Given the description of an element on the screen output the (x, y) to click on. 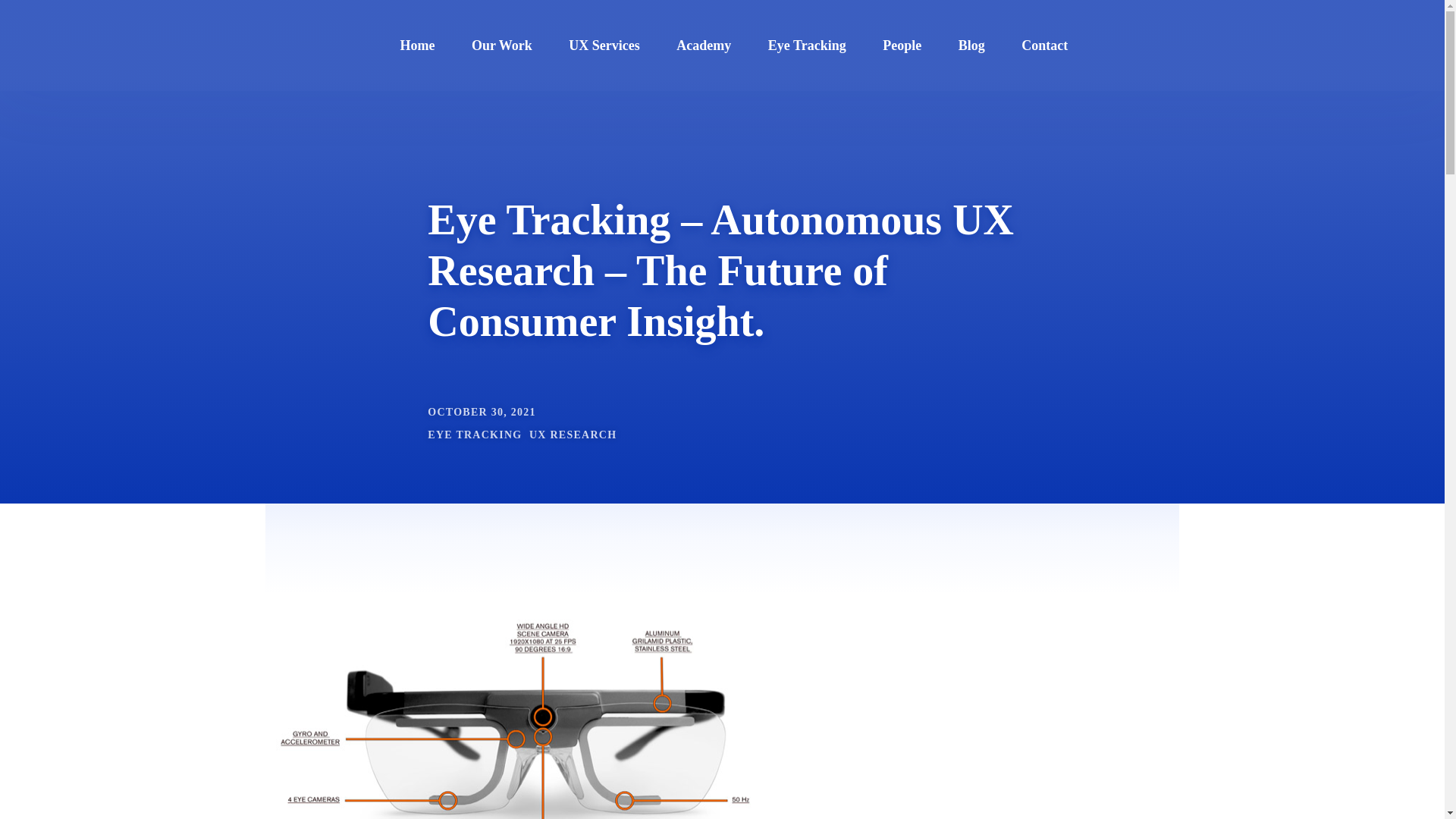
Blog (971, 45)
EYE TRACKING (474, 434)
Home (417, 45)
People (901, 45)
Academy (703, 45)
Eye Tracking (806, 45)
Our Work (501, 45)
UX Services (604, 45)
UX RESEARCH (572, 434)
Contact (1044, 45)
